Given the description of an element on the screen output the (x, y) to click on. 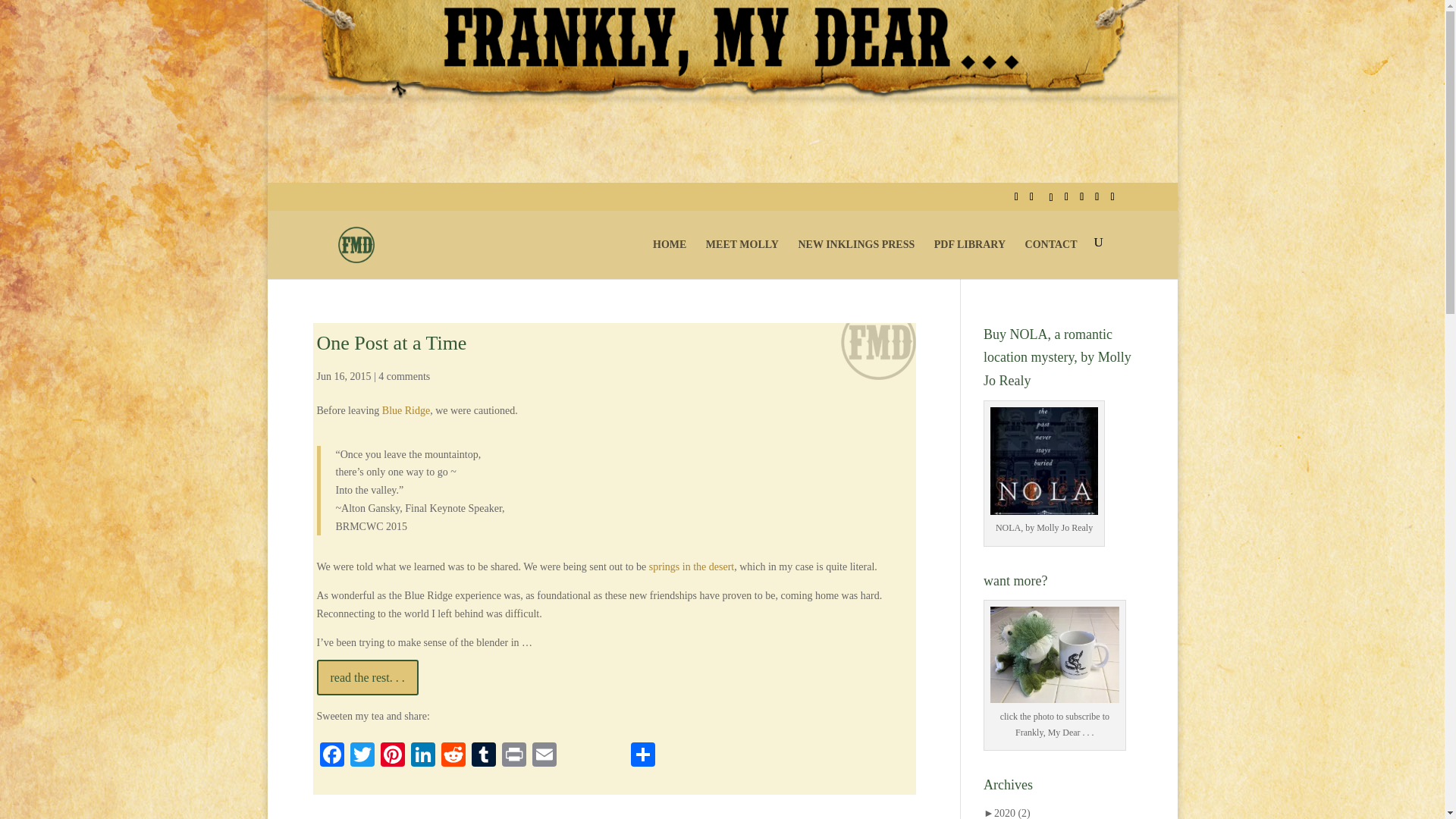
click to expand (1007, 813)
PDF LIBRARY (970, 257)
One Post at a Time (392, 342)
4 comments (403, 376)
Coming Home (691, 566)
Blue Ridge (405, 410)
read the rest. . . (368, 677)
CONTACT (1051, 257)
NEW INKLINGS PRESS (855, 257)
MEET MOLLY (742, 257)
